Given the description of an element on the screen output the (x, y) to click on. 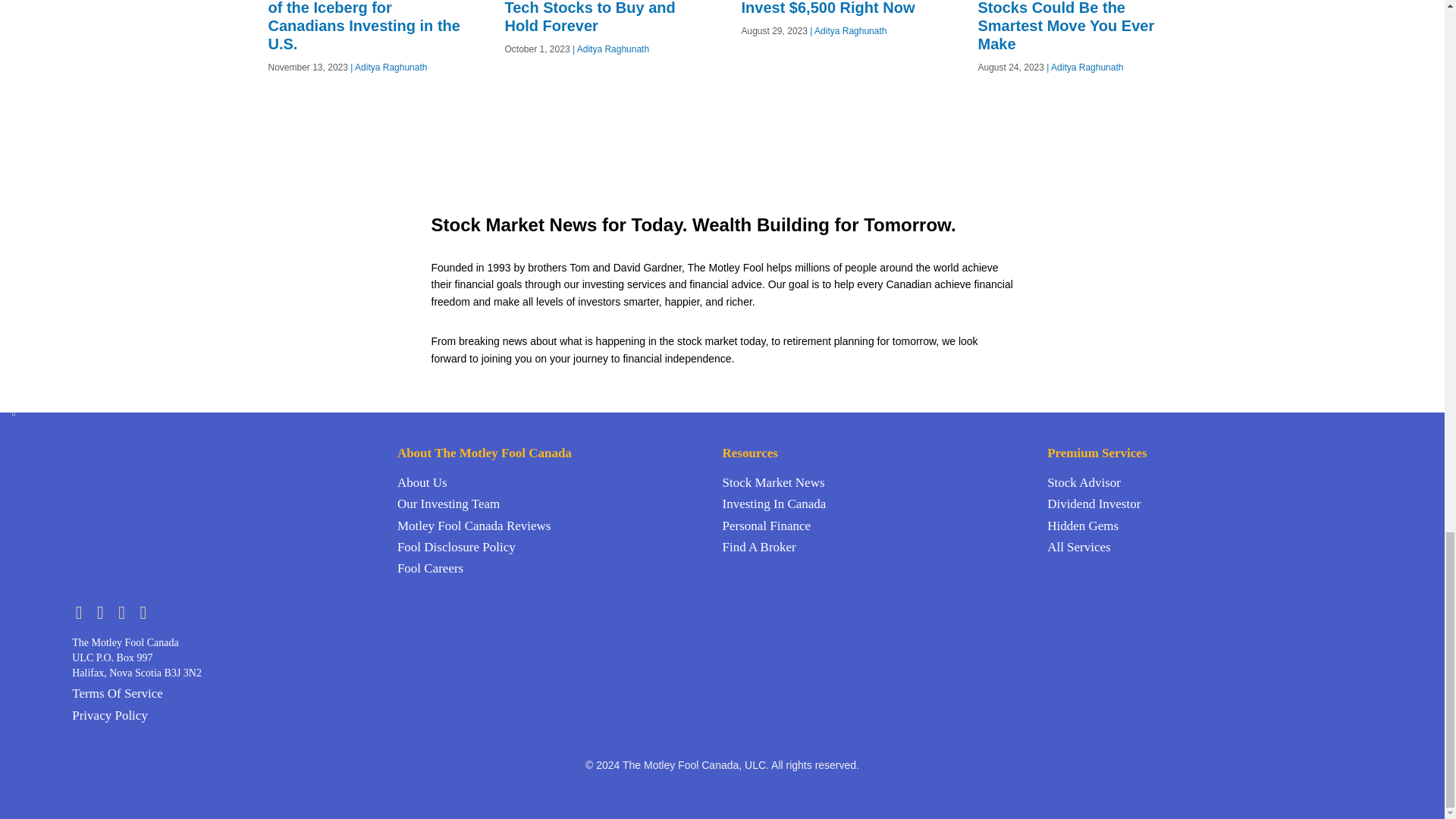
Follow us on Twitter (82, 611)
Follow us on Google News (145, 611)
Like us on Facebook (104, 611)
Subscribe to our feed (125, 611)
